Given the description of an element on the screen output the (x, y) to click on. 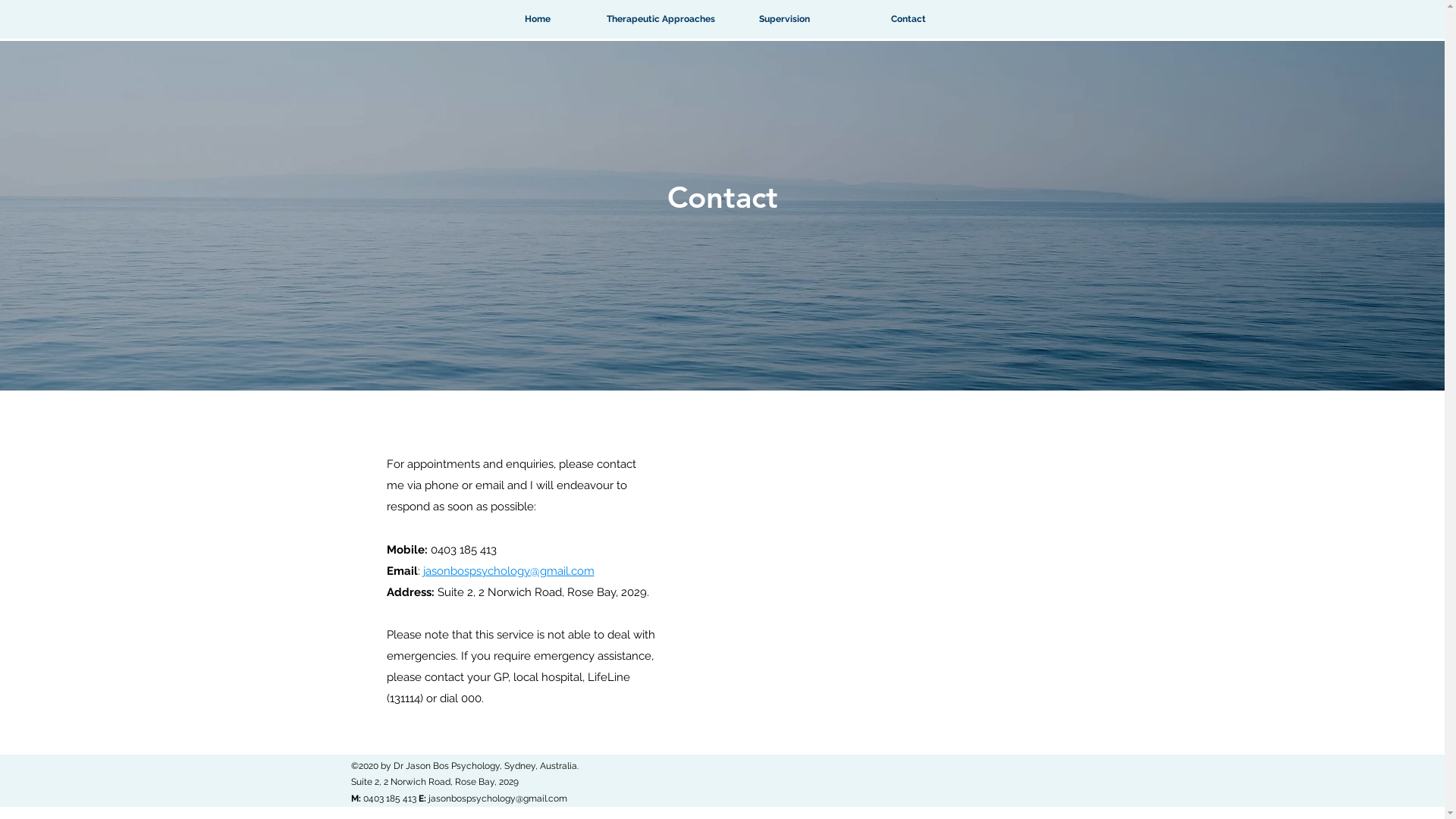
M: 0403 185 413 Element type: text (383, 798)
Supervision Element type: text (784, 19)
Suite 2, 2 Norwich Road, Rose Bay, 2029 Element type: text (433, 781)
Home Element type: text (537, 19)
E: jasonbospsychology@gmail.com Element type: text (492, 798)
Contact Element type: text (907, 19)
Google Maps Element type: hover (880, 585)
Therapeutic Approaches Element type: text (660, 19)
jasonbospsychology@gmail.com Element type: text (508, 570)
